Given the description of an element on the screen output the (x, y) to click on. 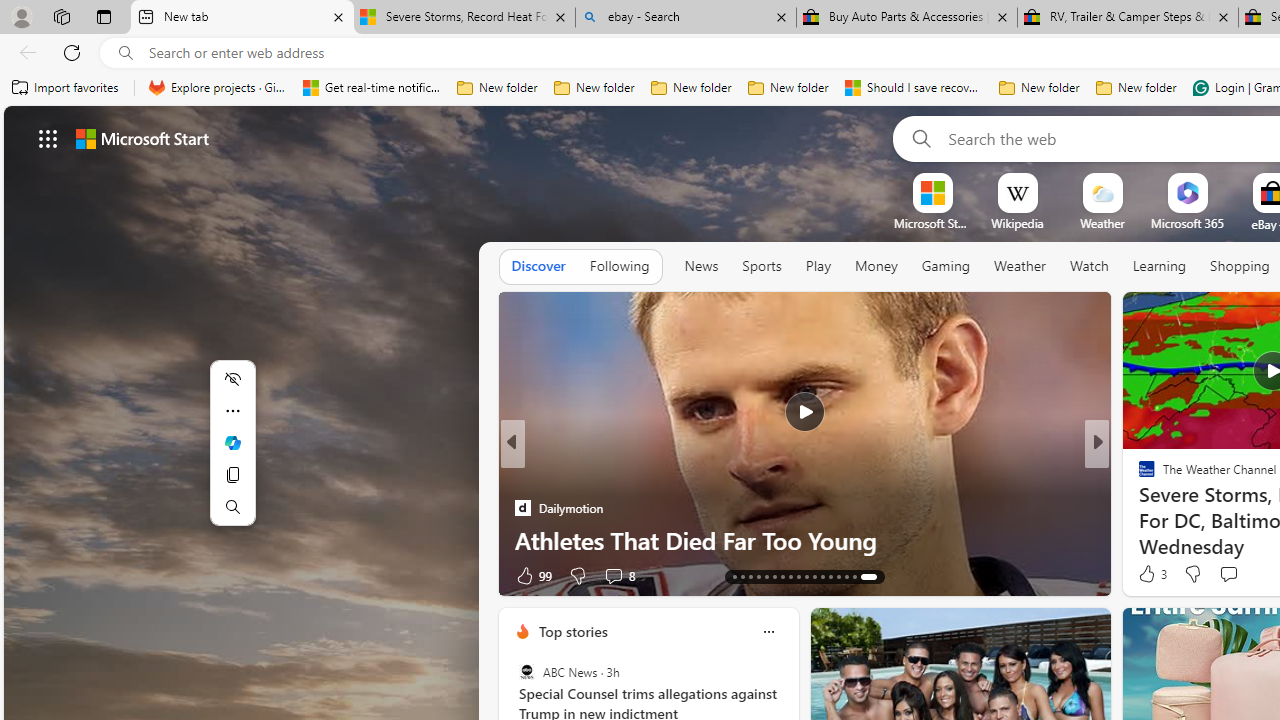
Spotlight Feature (1138, 475)
116 Like (1151, 574)
Play (817, 265)
View comments 5 Comment (606, 575)
Weather (1019, 267)
AutomationID: tab-15 (761, 576)
TheStreet (1138, 507)
Copy (232, 475)
AutomationID: tab-26 (850, 576)
102 Like (1151, 574)
